Given the description of an element on the screen output the (x, y) to click on. 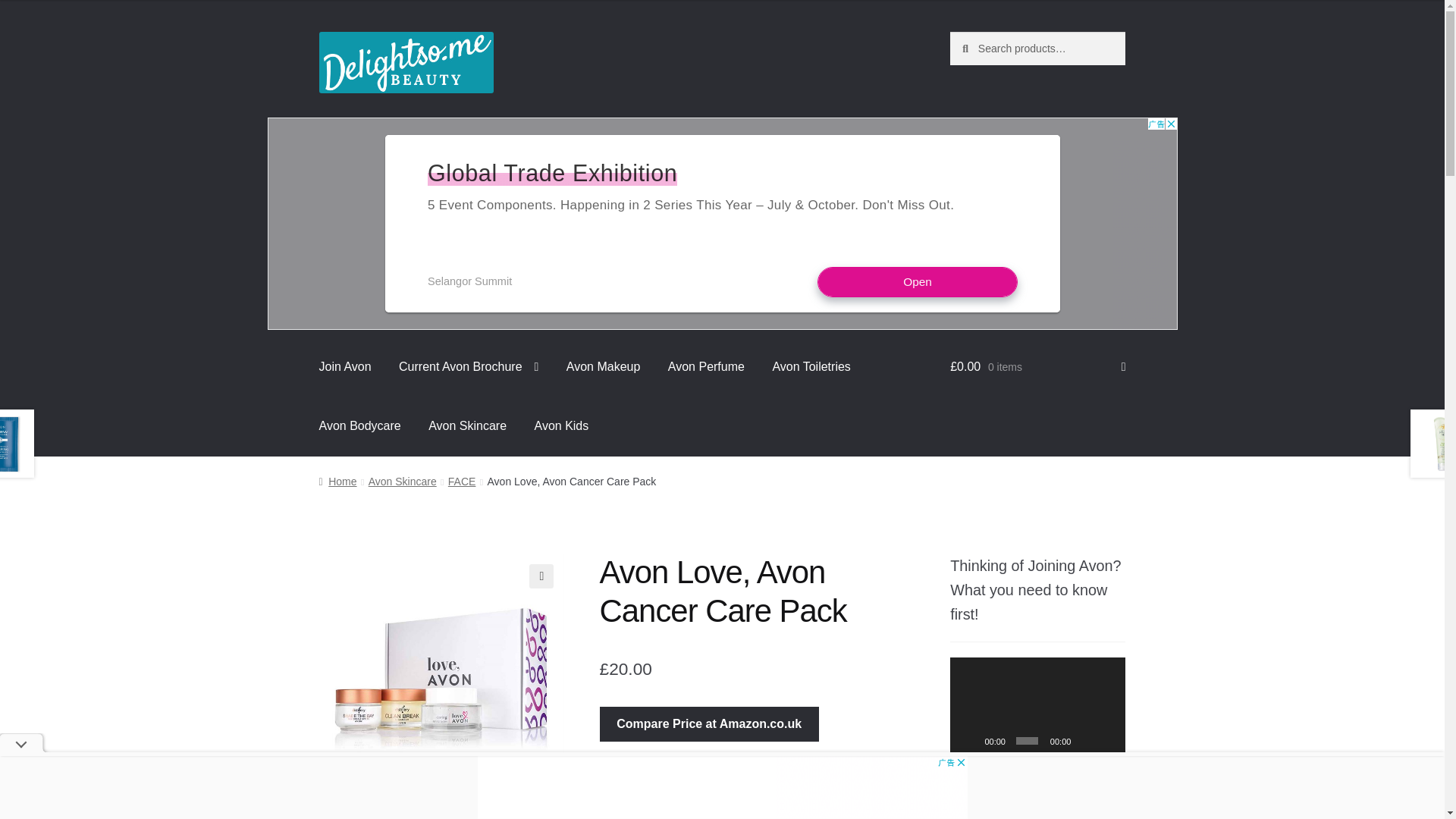
Mute (1085, 740)
Join Avon (345, 366)
Avon Bodycare (360, 425)
Fullscreen (1107, 740)
Compare Price at Amazon.co.uk (708, 724)
Play (969, 740)
Current Avon Brochure (468, 366)
Avon Perfume (706, 366)
Avon Kids (561, 425)
Avon Skincare (467, 425)
FACE (462, 481)
Avon Toiletries (810, 366)
View your shopping cart (1037, 366)
Avon Skincare (402, 481)
